Given the description of an element on the screen output the (x, y) to click on. 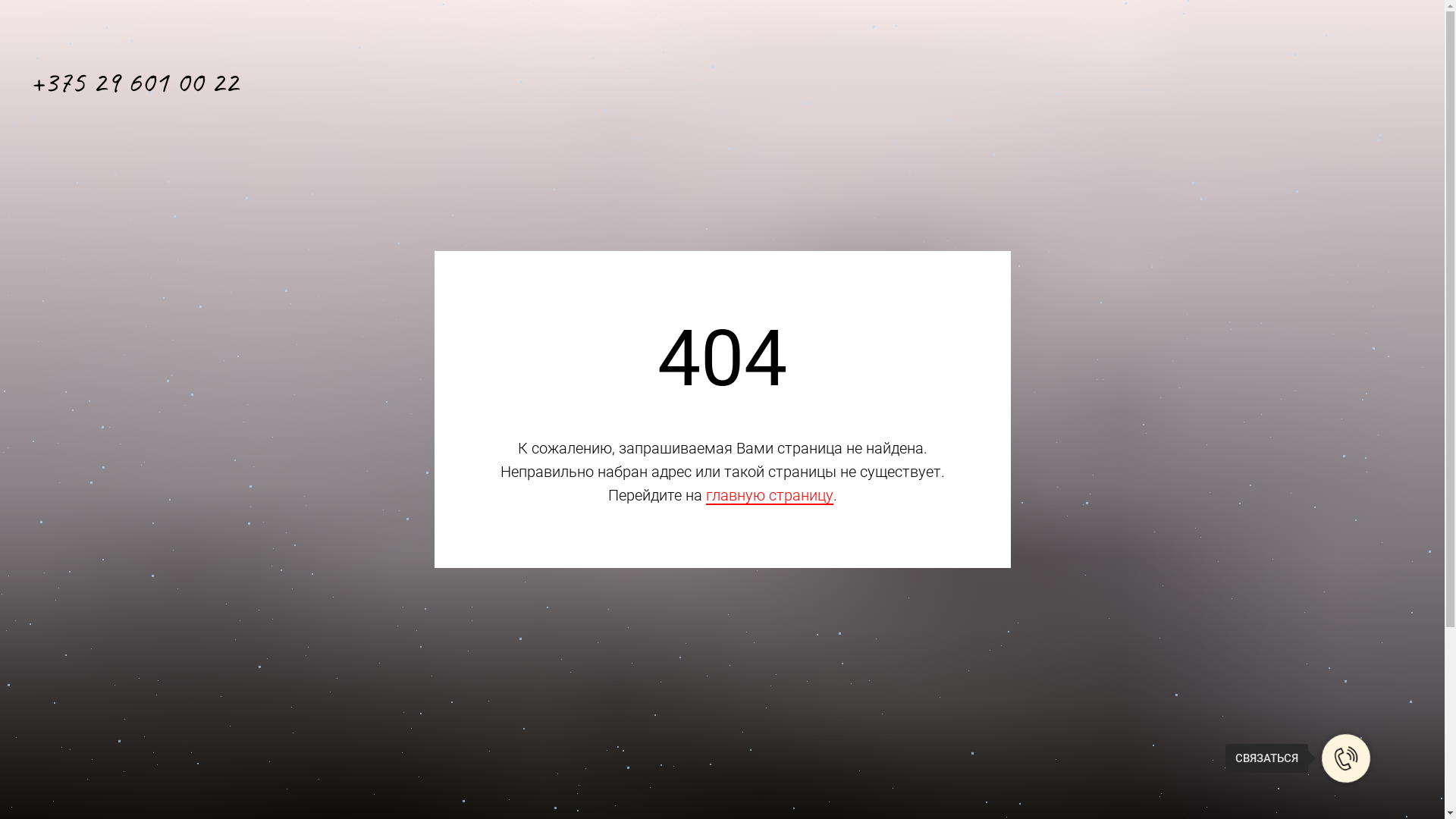
+375 29 601 00 22 Element type: text (134, 81)
